Given the description of an element on the screen output the (x, y) to click on. 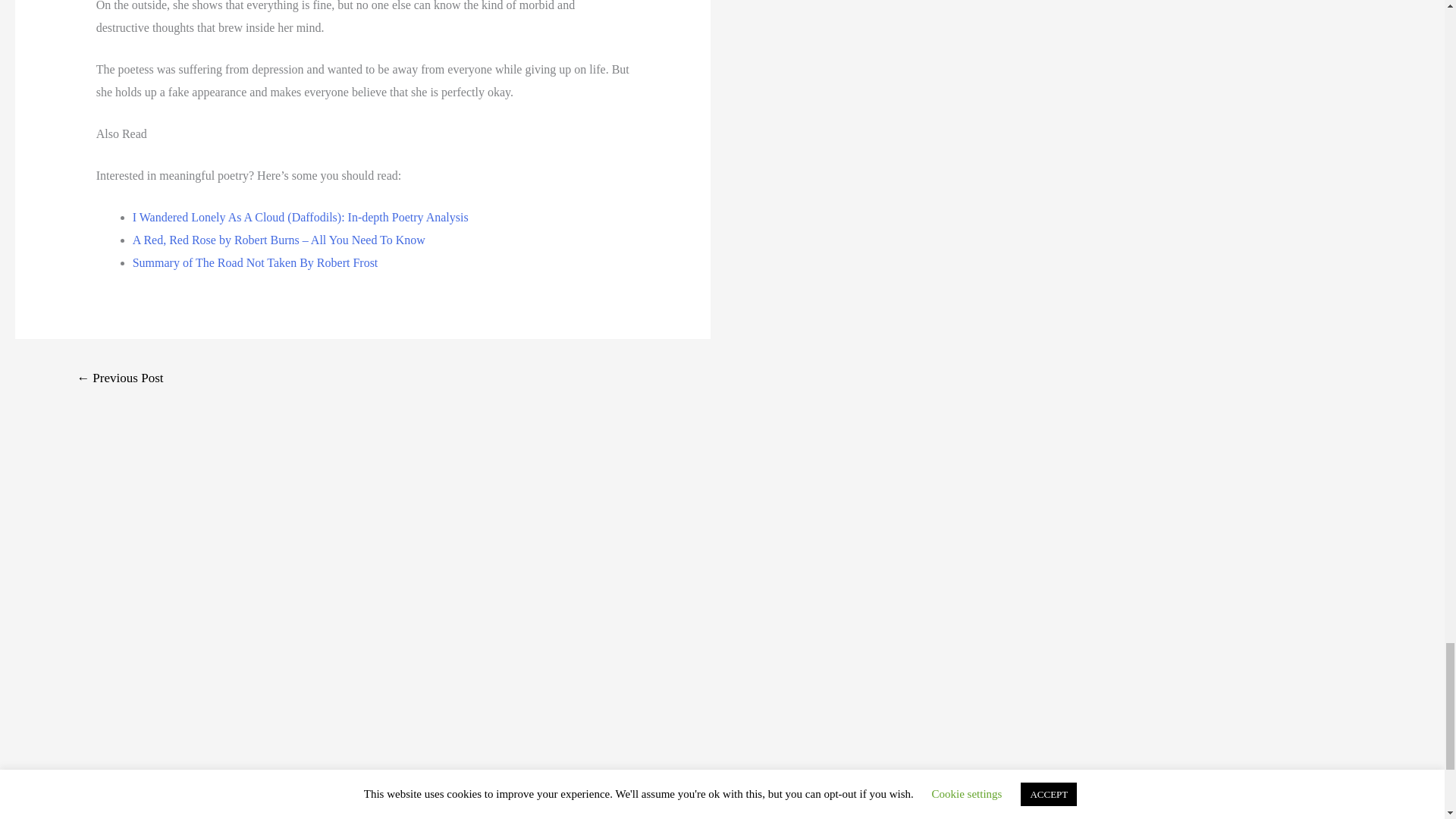
Summary of The Road Not Taken By Robert Frost (255, 262)
A Psalm of Life by HW Longfellow: Poetry Analysis (119, 379)
